Given the description of an element on the screen output the (x, y) to click on. 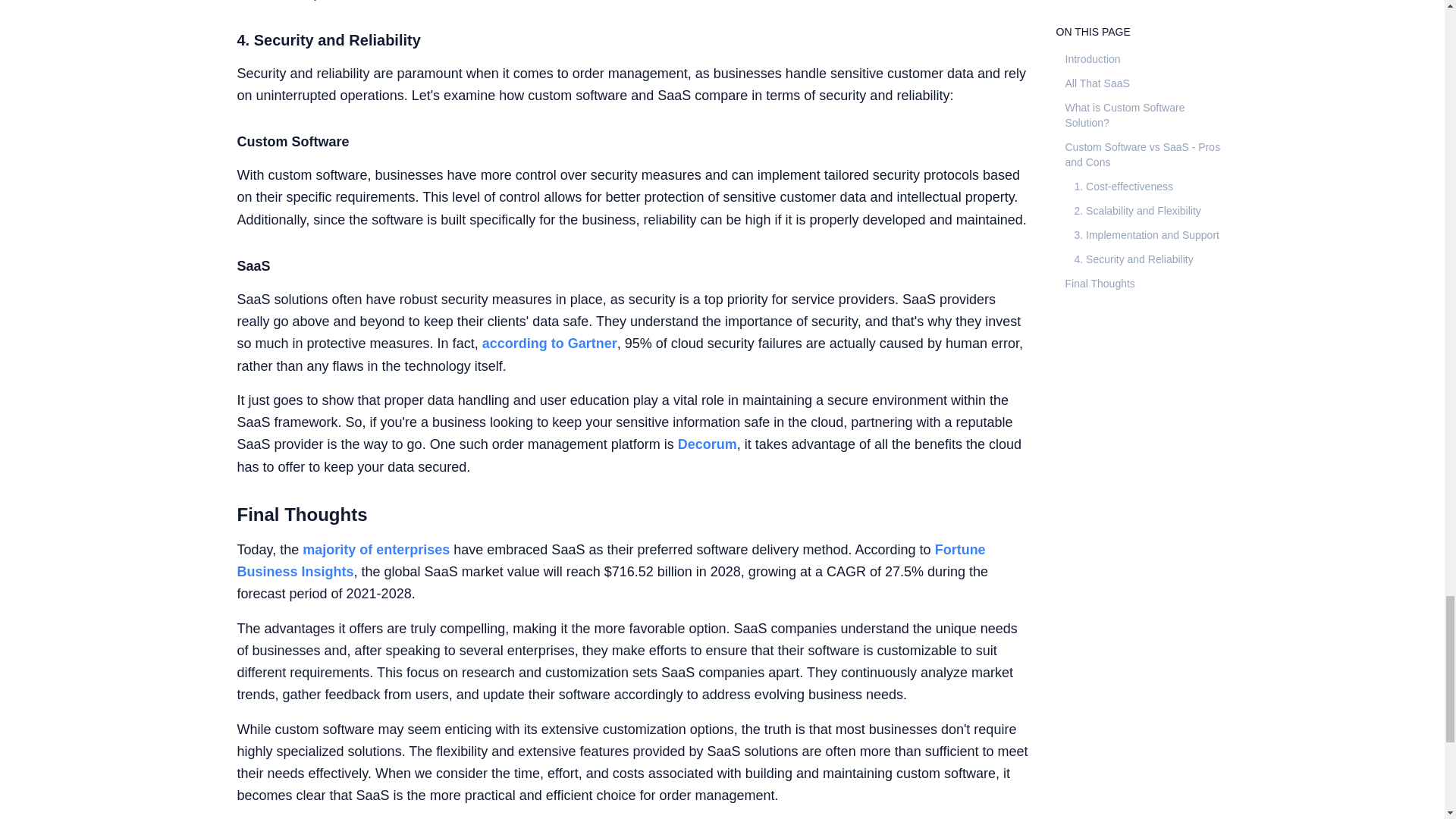
majority of enterprises (375, 549)
Fortune Business Insights (610, 560)
according to Gartner (549, 343)
Decorum (707, 444)
